Given the description of an element on the screen output the (x, y) to click on. 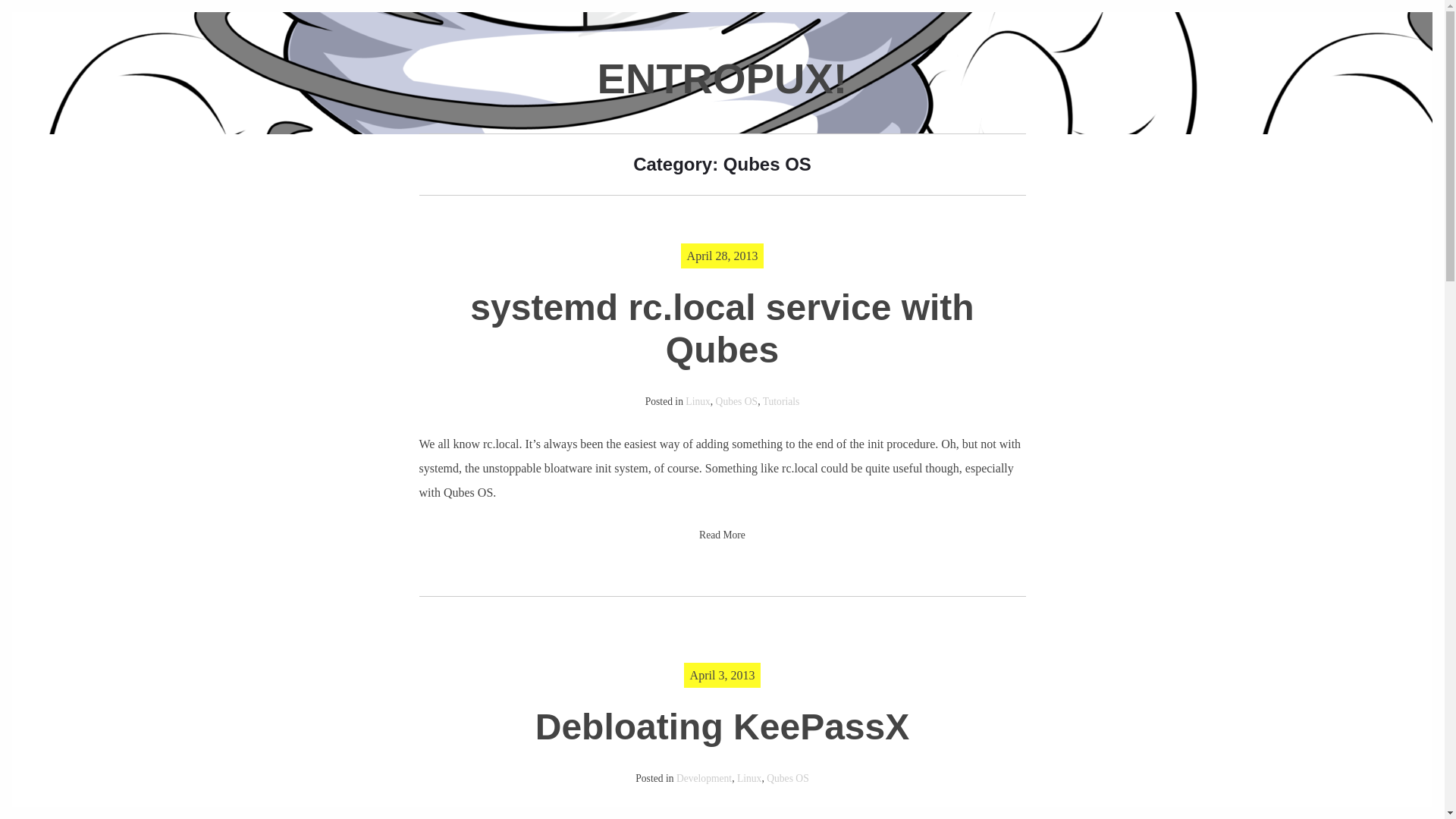
Search (22, 9)
Qubes OS (737, 401)
Tutorials (780, 401)
April 28, 2013 (722, 255)
April 3, 2013 (722, 675)
systemd rc.local service with Qubes (722, 328)
Read More (721, 534)
Debloating KeePassX (722, 726)
Linux (697, 401)
Linux (748, 778)
